Given the description of an element on the screen output the (x, y) to click on. 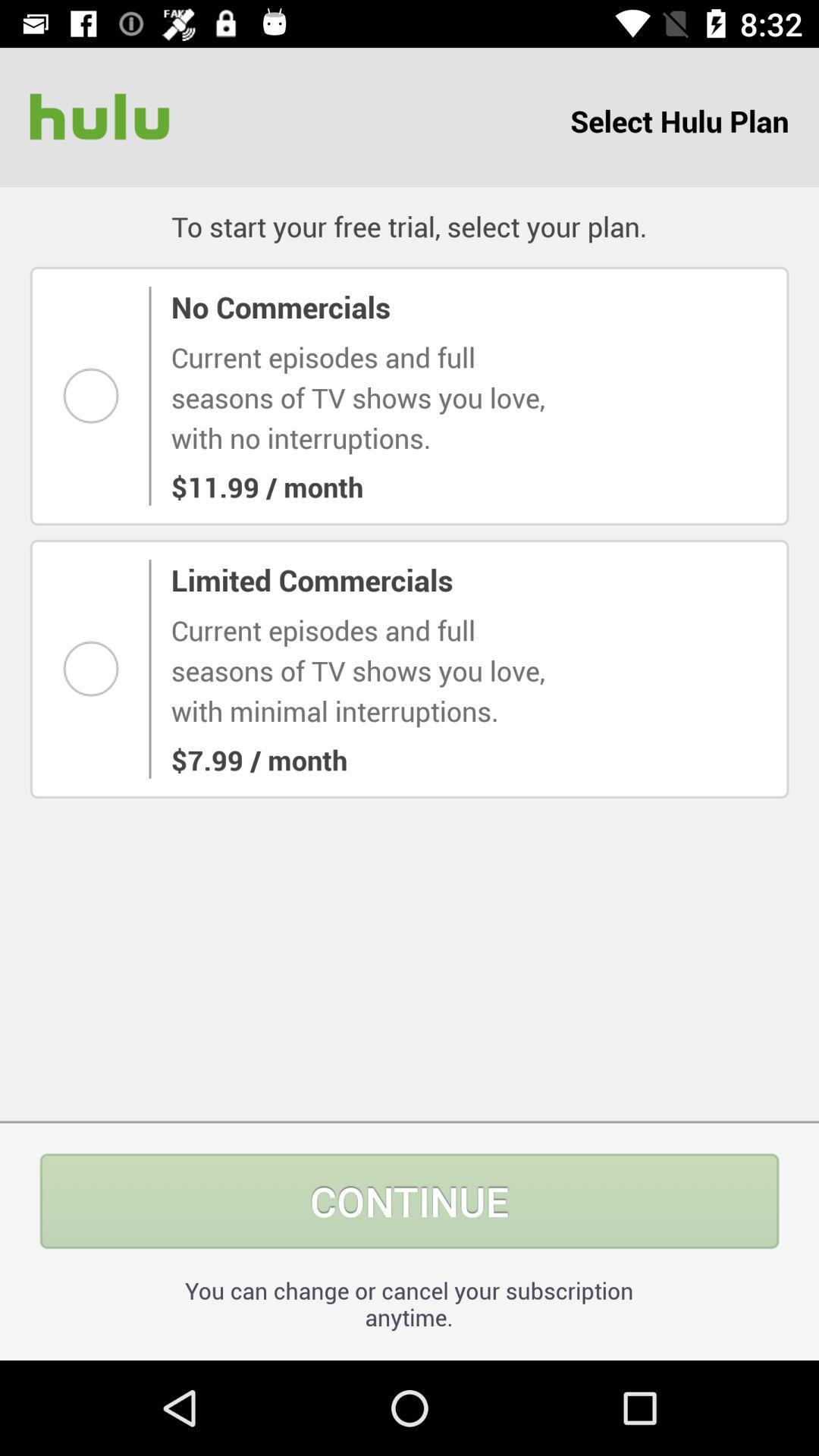
open the continue icon (409, 1200)
